Given the description of an element on the screen output the (x, y) to click on. 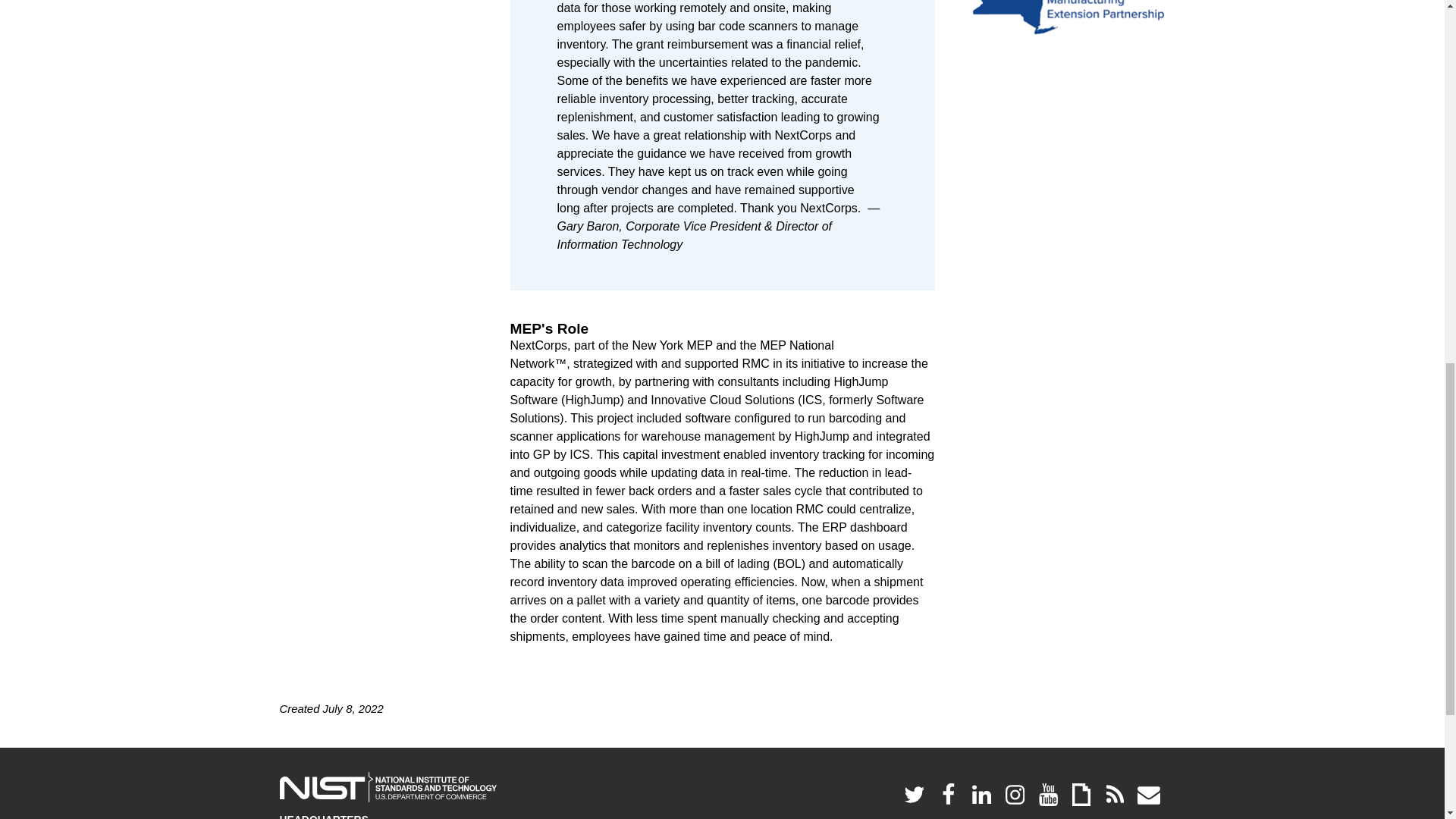
National Institute of Standards and Technology (387, 787)
